Given the description of an element on the screen output the (x, y) to click on. 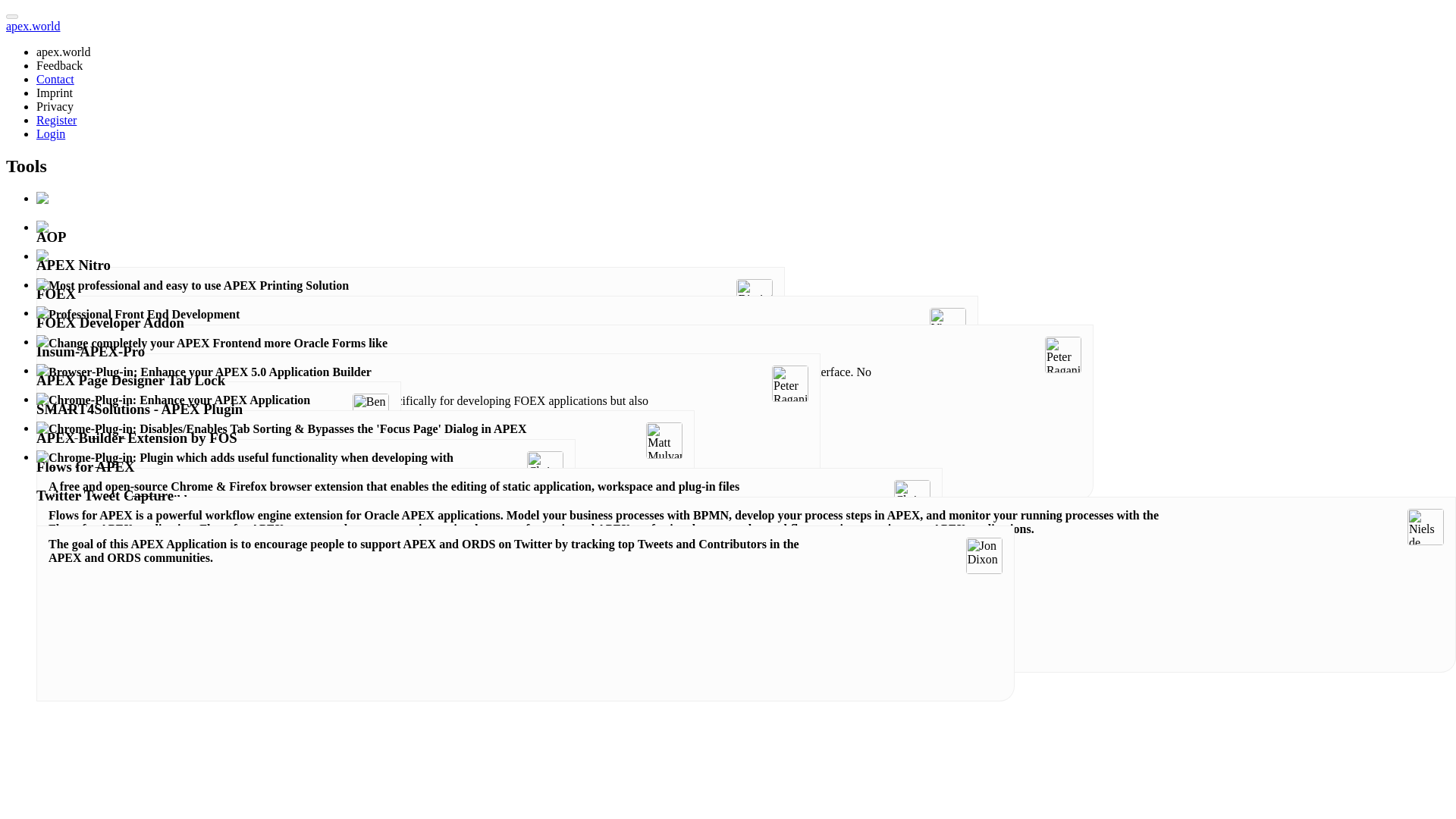
Contact (55, 78)
apex.world (63, 51)
Login (50, 133)
Feedback (59, 65)
Privacy (55, 106)
Imprint (54, 92)
Register (56, 119)
apex.world (33, 25)
